Given the description of an element on the screen output the (x, y) to click on. 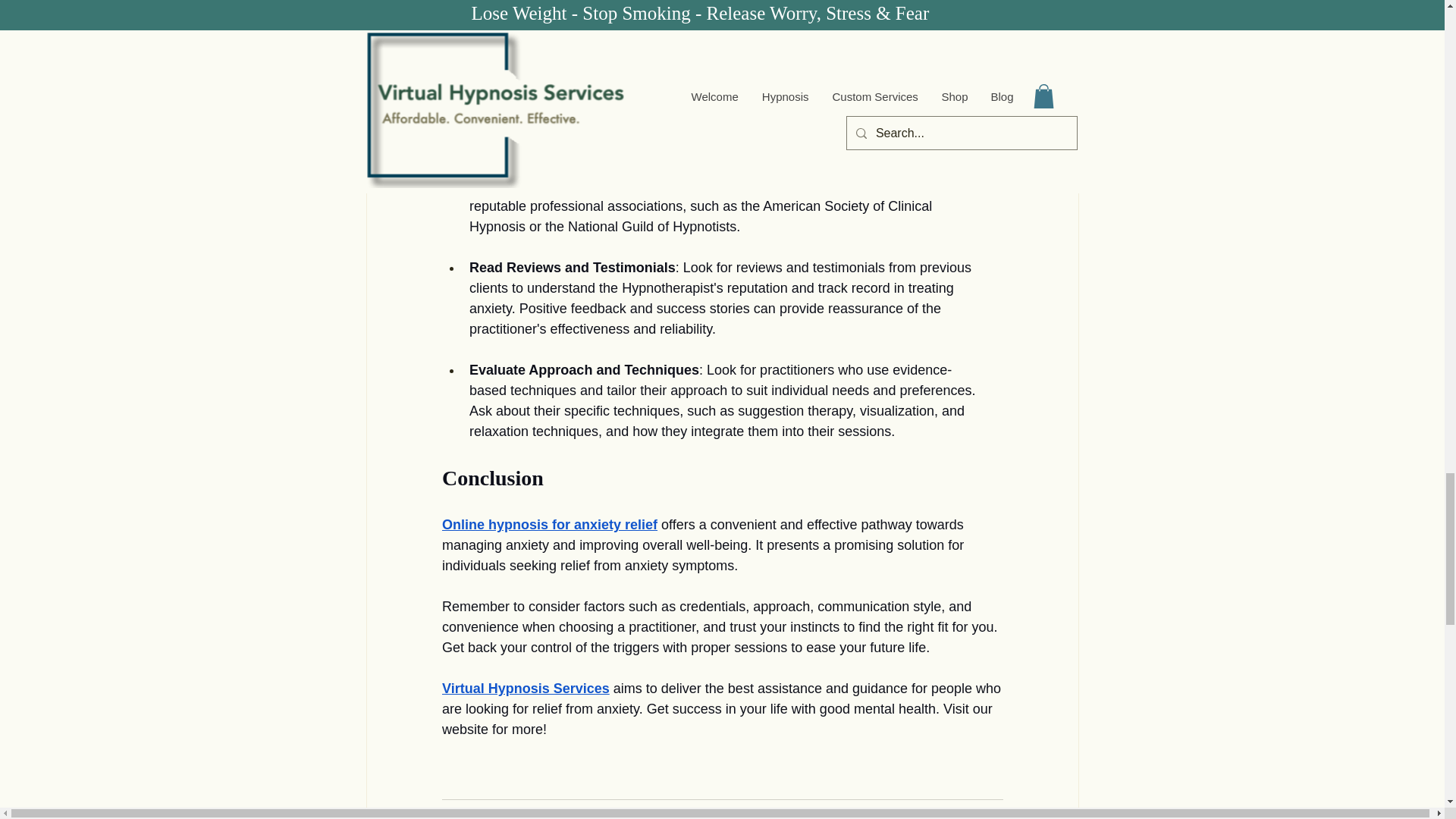
Online hypnosis for anxiety relief (548, 525)
Virtual Hypnosis Services (524, 688)
